Given the description of an element on the screen output the (x, y) to click on. 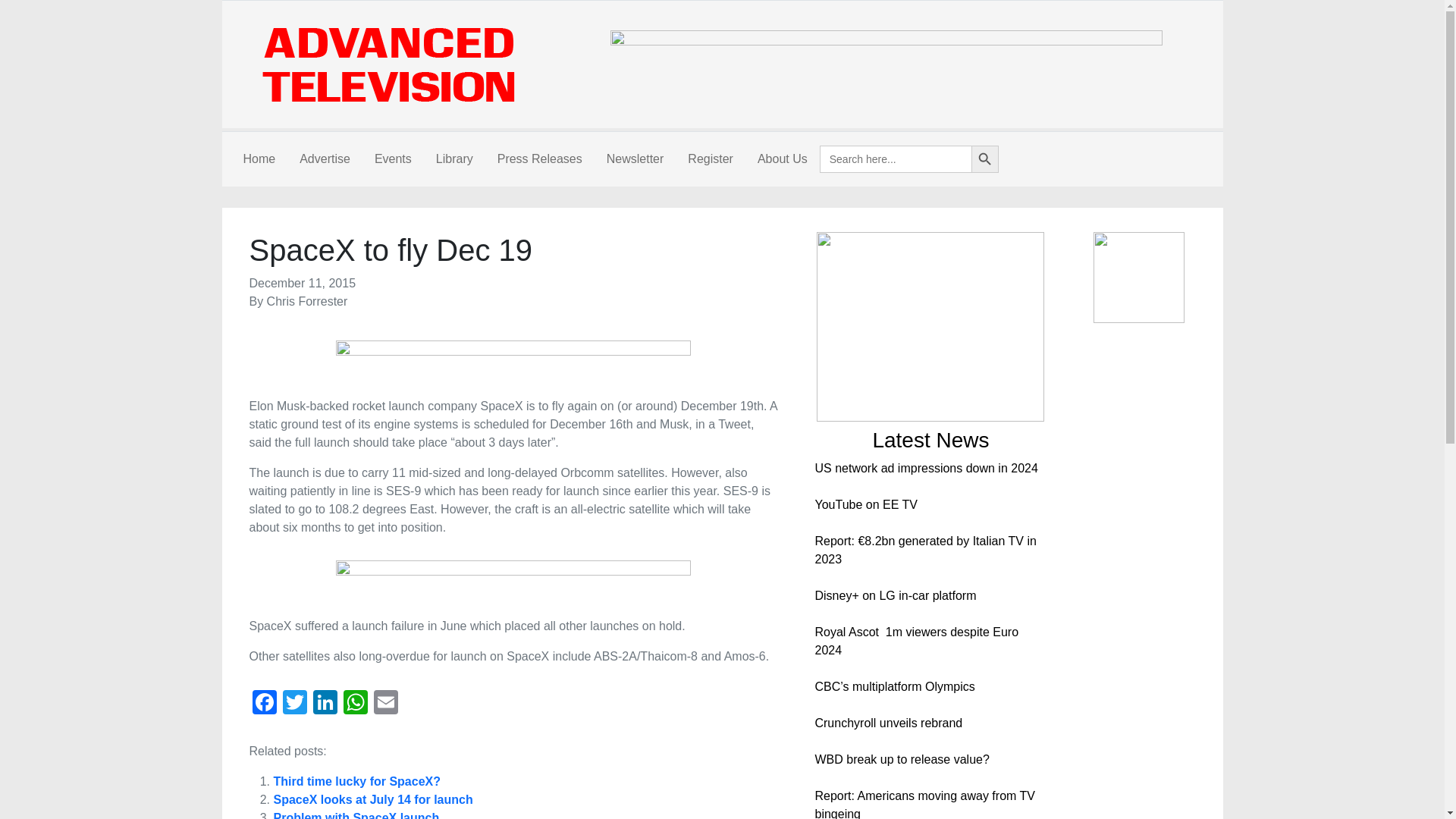
Facebook (263, 704)
LinkedIn (323, 704)
Library (453, 158)
Facebook (263, 704)
Register (710, 158)
Twitter (293, 704)
Royal Ascot  1m viewers despite Euro 2024 (915, 640)
Press Releases (539, 158)
Search Button (984, 158)
Email (384, 704)
Problem with SpaceX launch (356, 815)
About Us (782, 158)
Third time lucky for SpaceX? (357, 780)
SpaceX looks at July 14 for launch (372, 799)
Newsletter (635, 158)
